Given the description of an element on the screen output the (x, y) to click on. 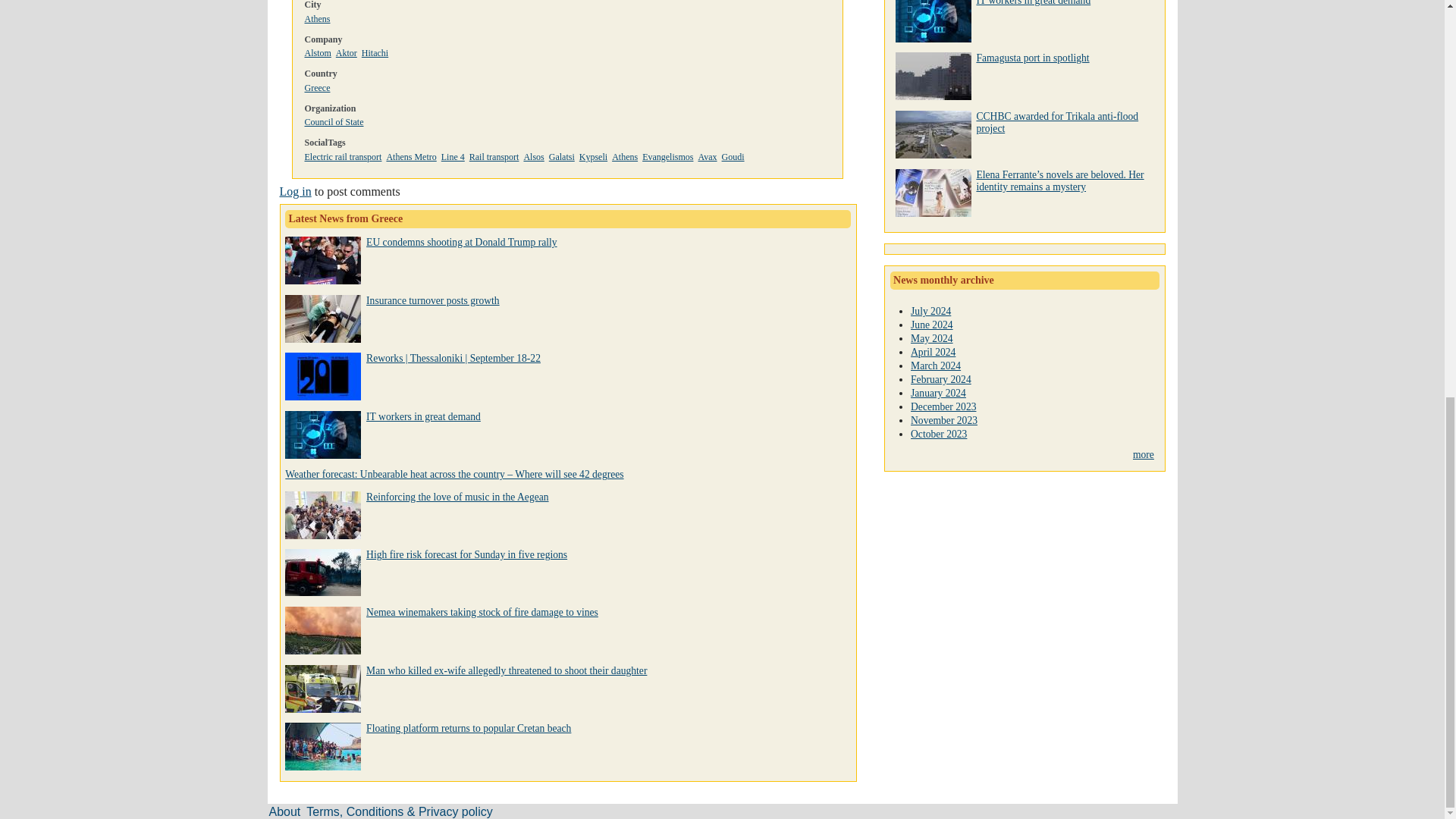
Athens (624, 156)
Athens (317, 18)
Avax (706, 156)
Aktor (346, 52)
Alsos (532, 156)
Greece (317, 87)
Hitachi (374, 52)
Electric rail transport (342, 156)
Evangelismos (667, 156)
Council of State (334, 122)
Rail transport (493, 156)
Athens Metro (410, 156)
Log in (295, 191)
Alstom (317, 52)
Galatsi (561, 156)
